Given the description of an element on the screen output the (x, y) to click on. 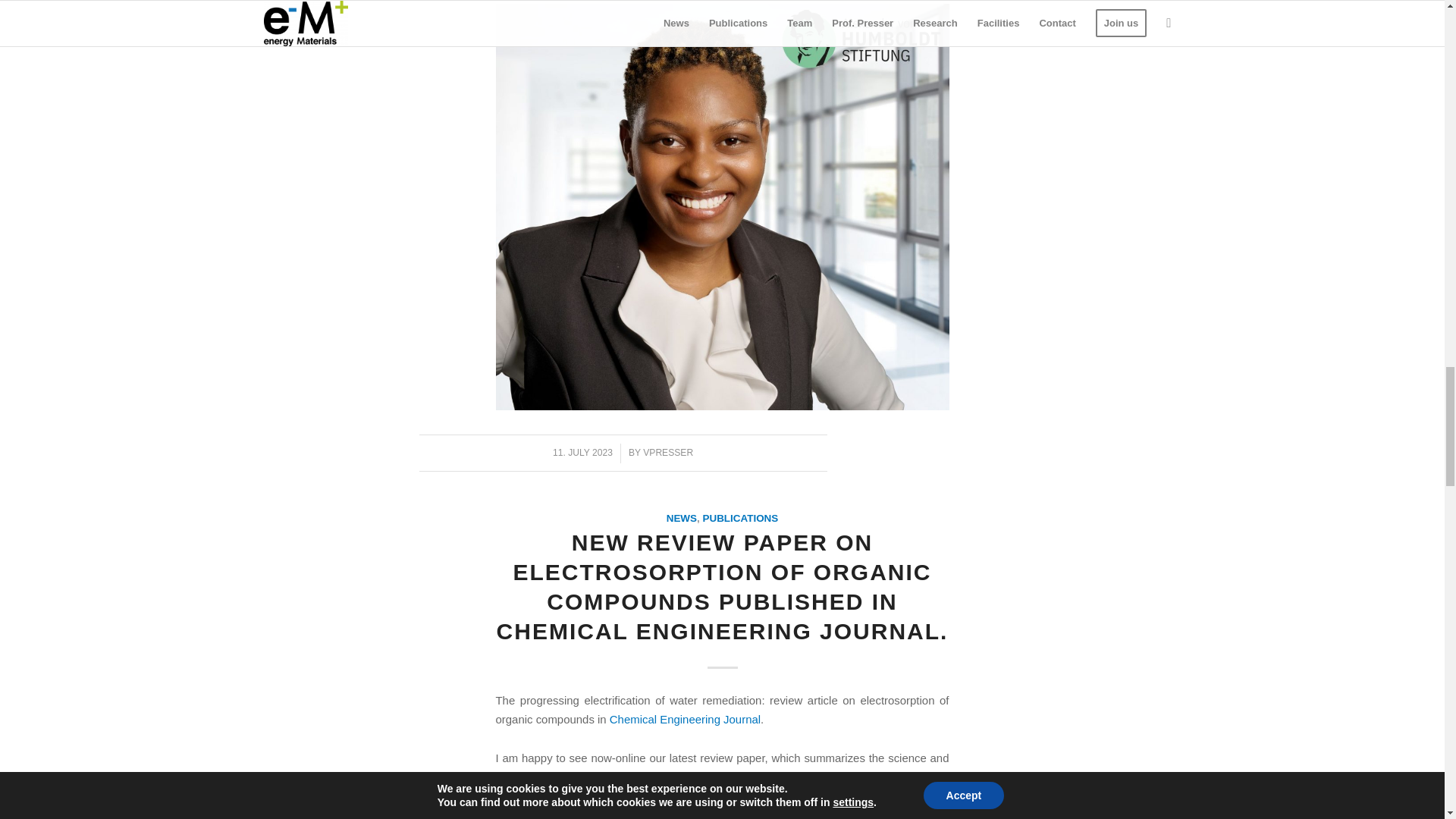
Posts by vpresser (668, 452)
